Given the description of an element on the screen output the (x, y) to click on. 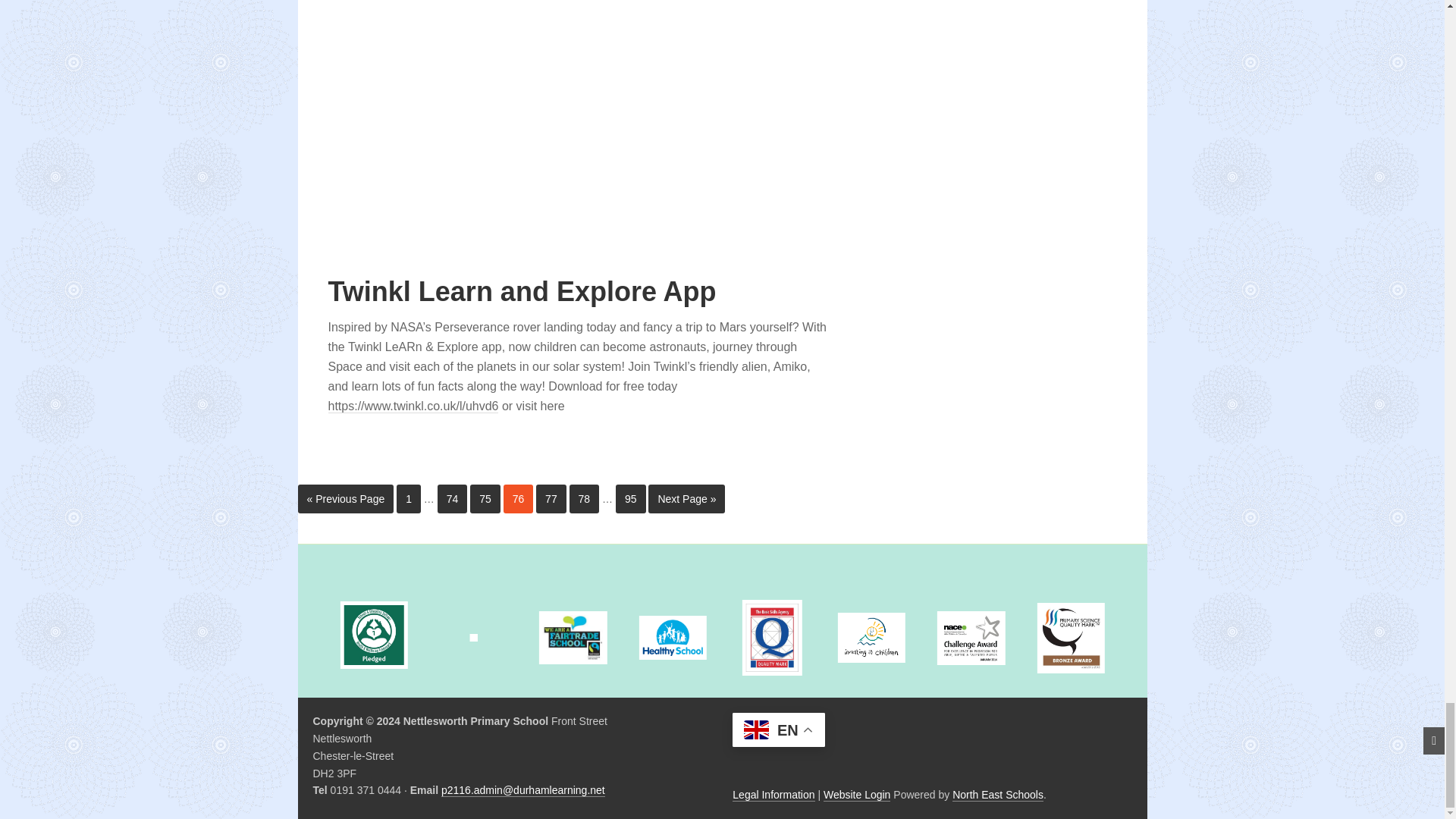
TTRockstars Certificates - 26.2.21 (516, 101)
